Given the description of an element on the screen output the (x, y) to click on. 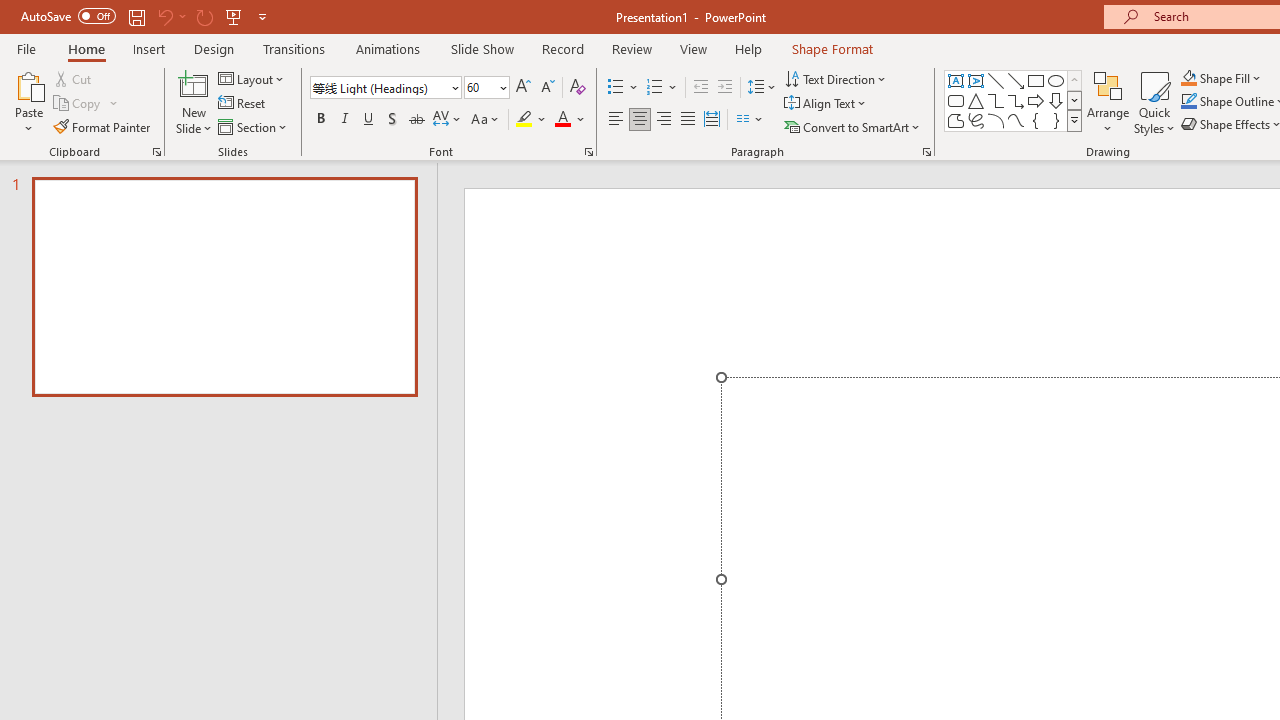
Shape Fill Orange, Accent 2 (1188, 78)
